Given the description of an element on the screen output the (x, y) to click on. 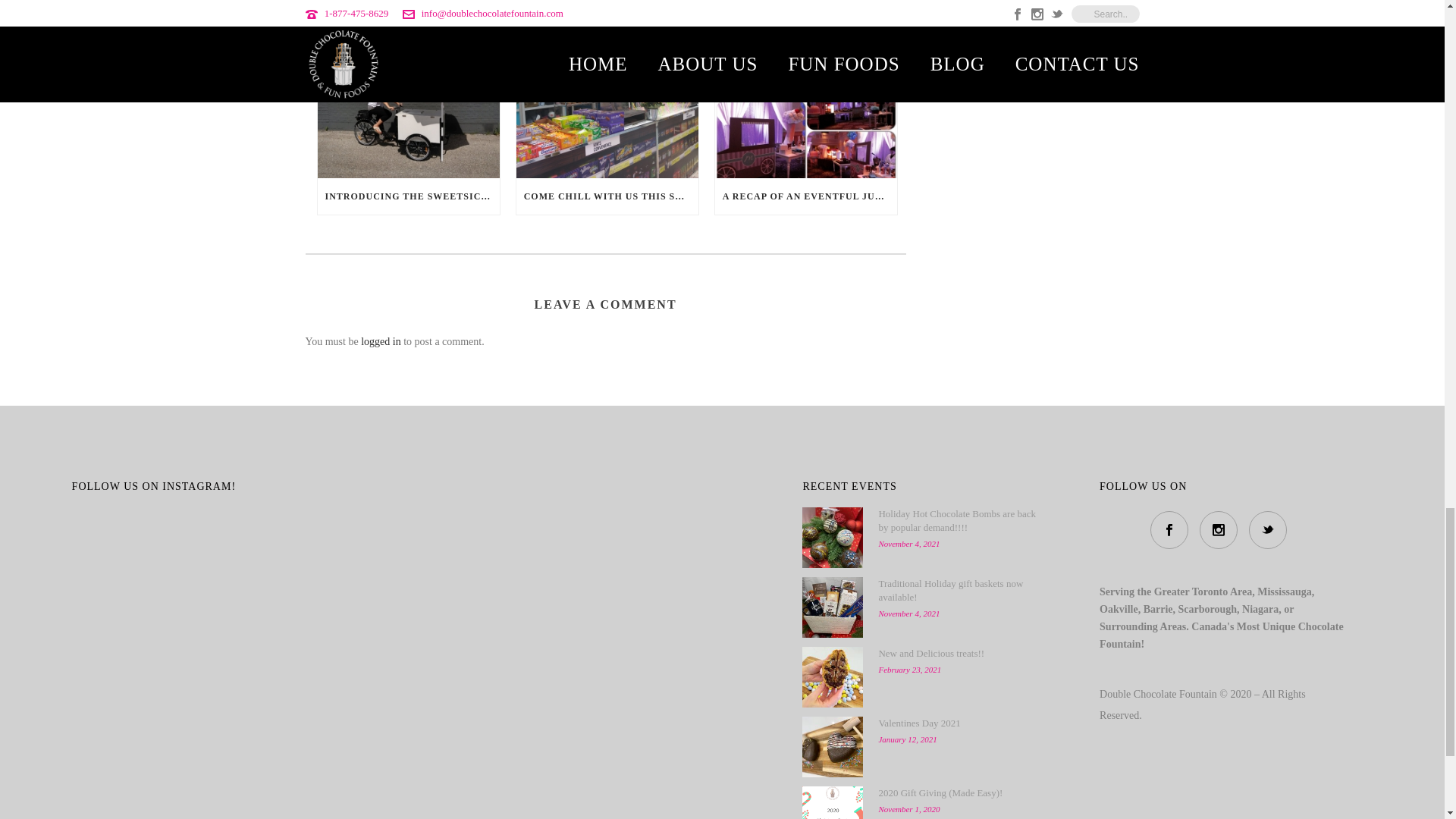
A Recap of an Eventful June at DCF (805, 100)
Follow Us on facebook (1169, 529)
A RECAP OF AN EVENTFUL JUNE AT DCF (805, 196)
New and Delicious treats!! (832, 677)
INTRODUCING THE SWEETSICLE BY DCF! (408, 196)
Traditional Holiday gift baskets now available! (832, 607)
COME CHILL WITH US THIS SUMMER! (607, 196)
Valentines Day 2021 (832, 746)
Come Chill with us this Summer! (607, 100)
Introducing the SWEETSICLE by DCF! (408, 100)
Follow Us on instagram (1218, 529)
Holiday Hot Chocolate Bombs are back by popular demand!!!! (832, 537)
